Given the description of an element on the screen output the (x, y) to click on. 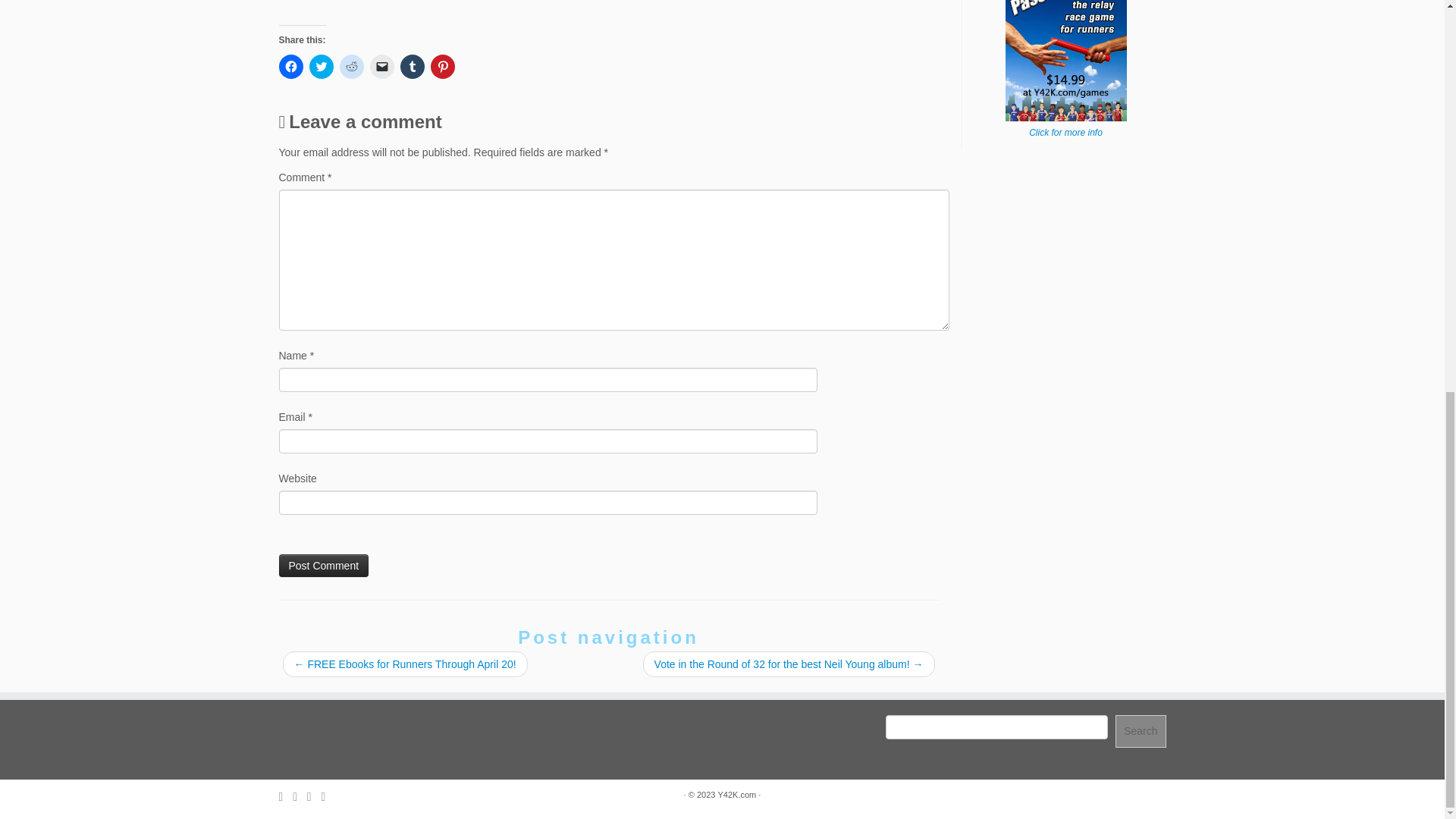
Click for more info (1065, 132)
Click to share on Facebook (290, 66)
Post Comment (324, 565)
Post Comment (324, 565)
